Given the description of an element on the screen output the (x, y) to click on. 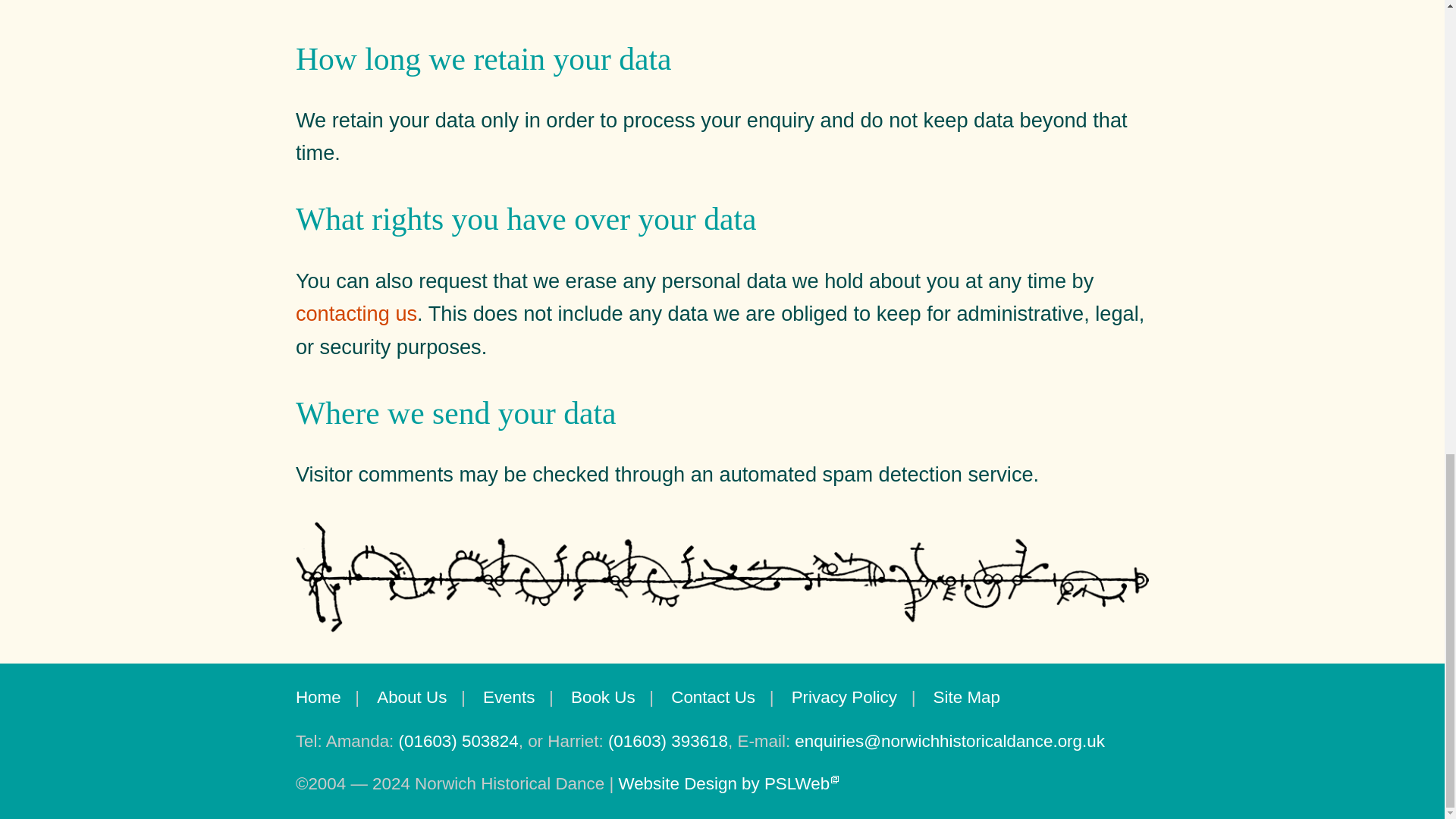
About Us (411, 696)
contacting us (355, 313)
Events (508, 696)
Website Design by PSLWeb (727, 783)
Home (317, 696)
Site Map (966, 696)
Privacy Policy (844, 696)
Book Us (602, 696)
Contact Us (713, 696)
